Given the description of an element on the screen output the (x, y) to click on. 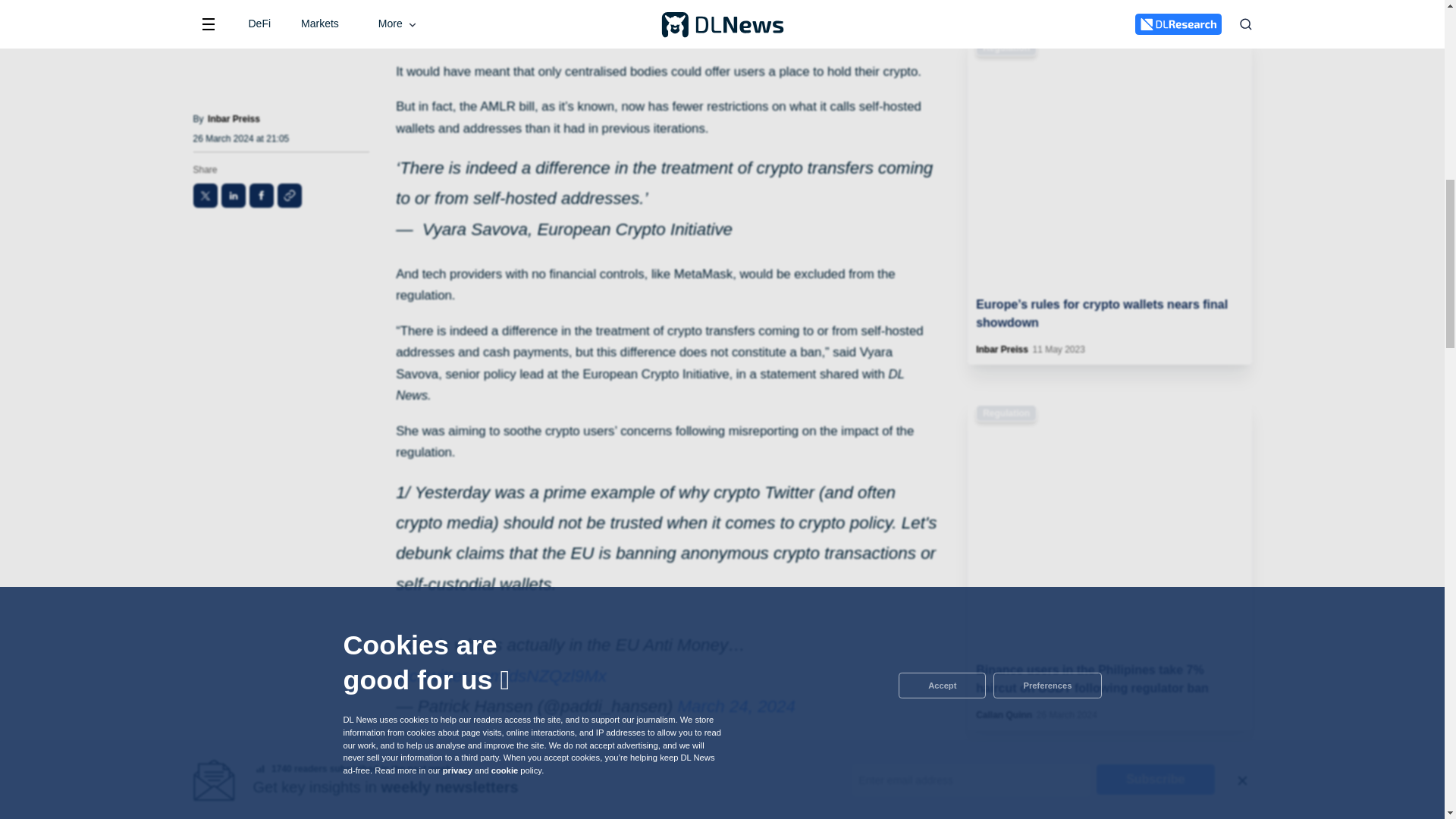
Regulation (1005, 412)
Inbar Preiss (1001, 348)
March 24, 2024 (735, 705)
Regulation (1005, 47)
